Given the description of an element on the screen output the (x, y) to click on. 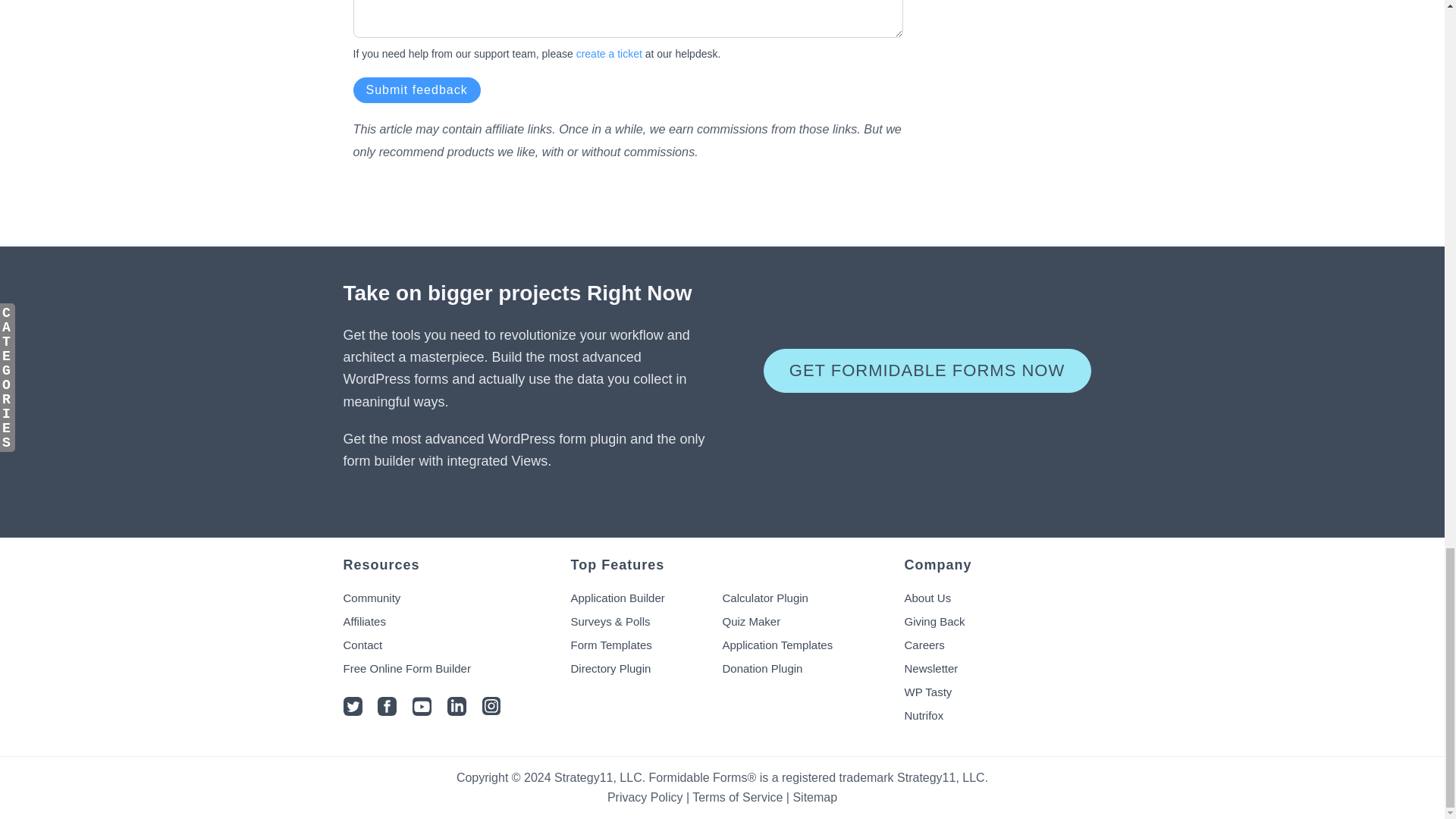
Linkedin (455, 711)
Facebook (386, 711)
Create a Ticket (609, 53)
YouTube (421, 711)
Instagram (490, 711)
Get Formidable Forms Now (926, 370)
Twitter (351, 711)
